Given the description of an element on the screen output the (x, y) to click on. 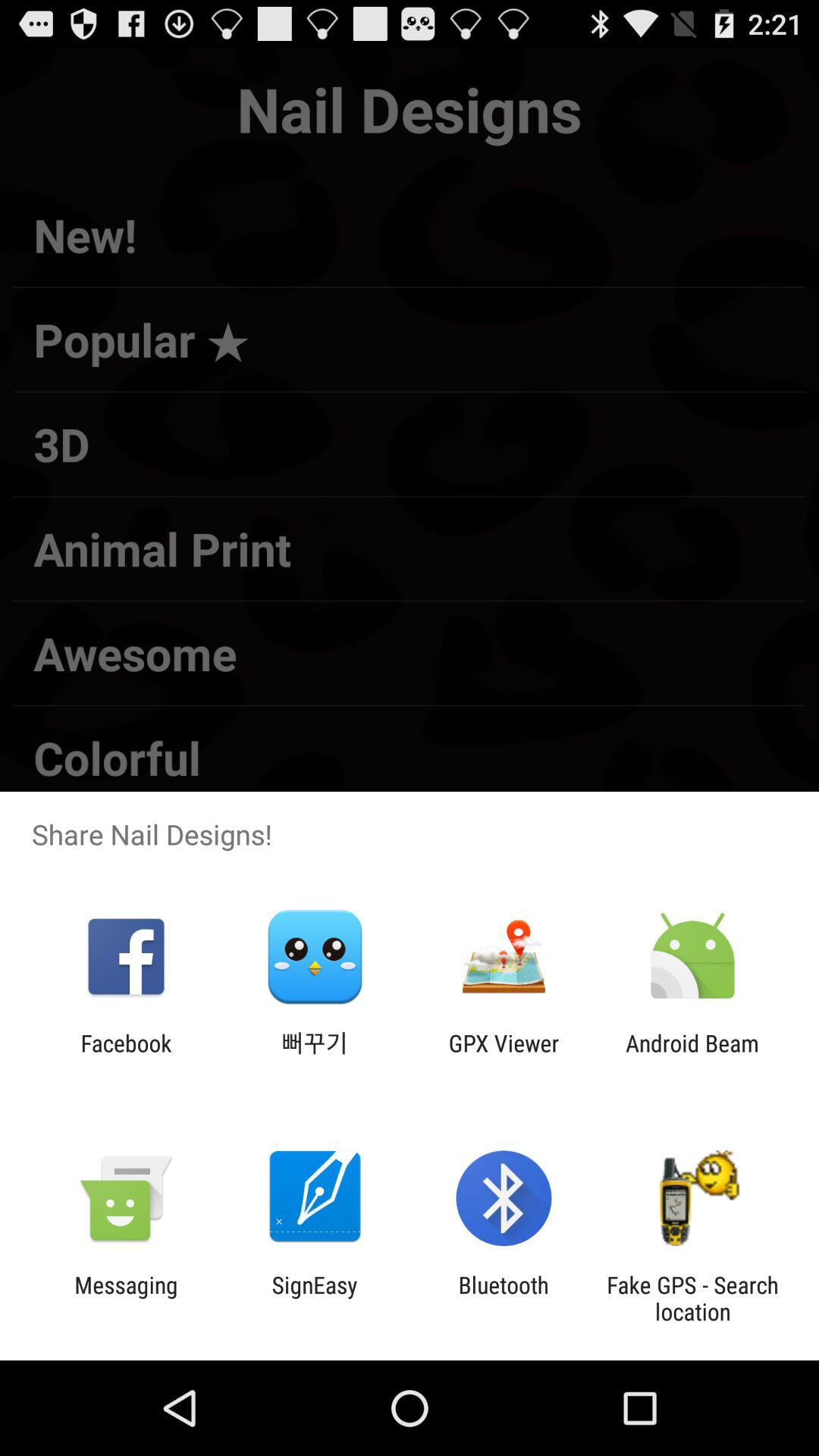
tap app next to fake gps search item (503, 1298)
